Given the description of an element on the screen output the (x, y) to click on. 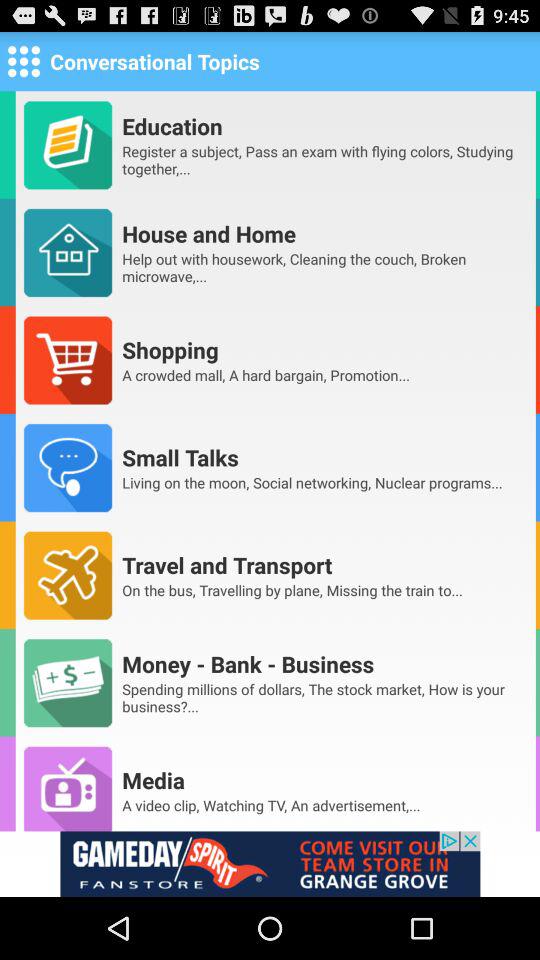
open advertisement (270, 864)
